Given the description of an element on the screen output the (x, y) to click on. 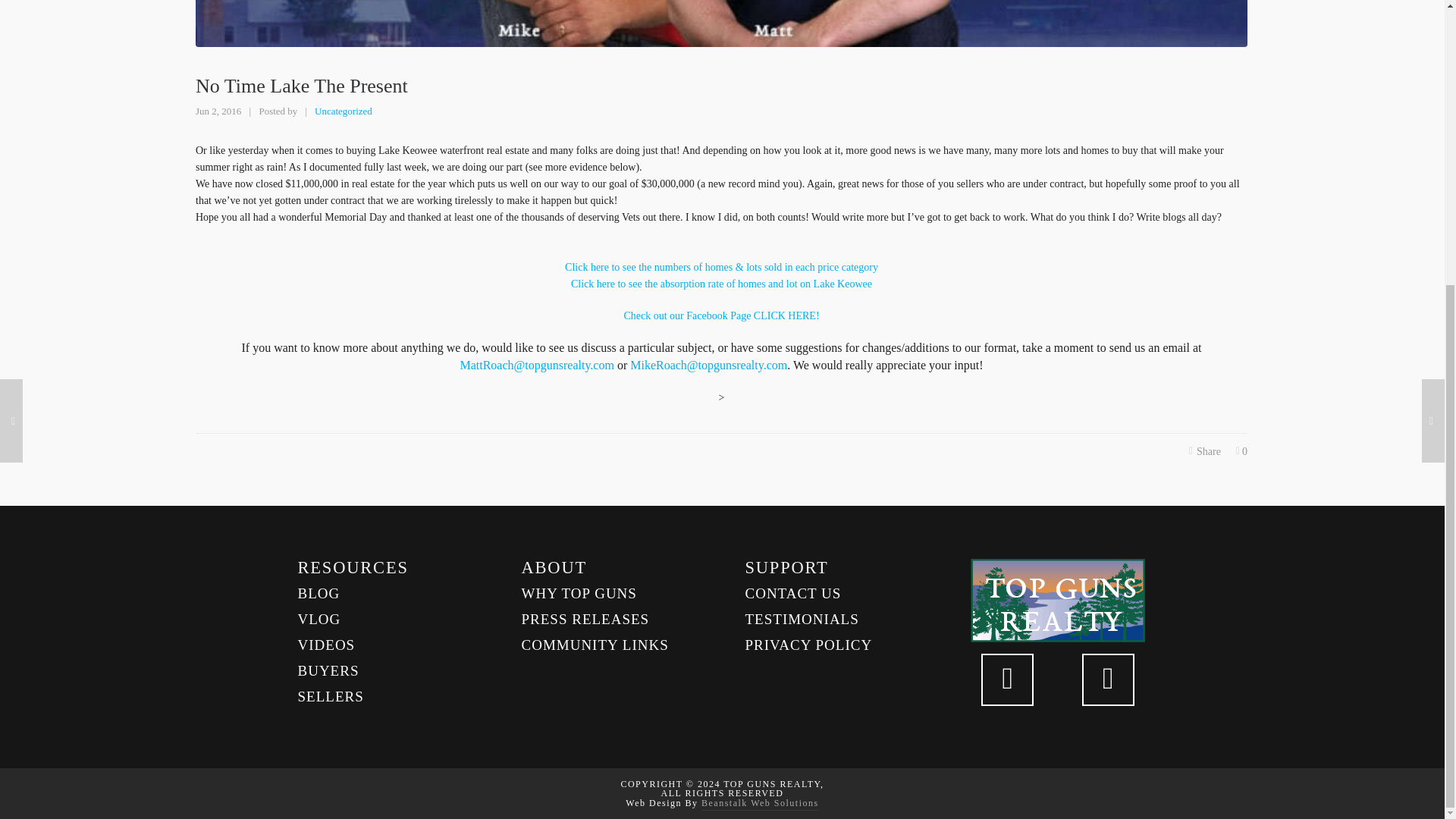
No Time Lake The Present (721, 23)
Lake Keowee Waterfront Real Estate Numbe (720, 266)
View all posts in Uncategorized (343, 111)
Lake Keowee Real Estate Numbers Roach (721, 283)
Lake Keowee Real Estate Reserve (720, 315)
